Given the description of an element on the screen output the (x, y) to click on. 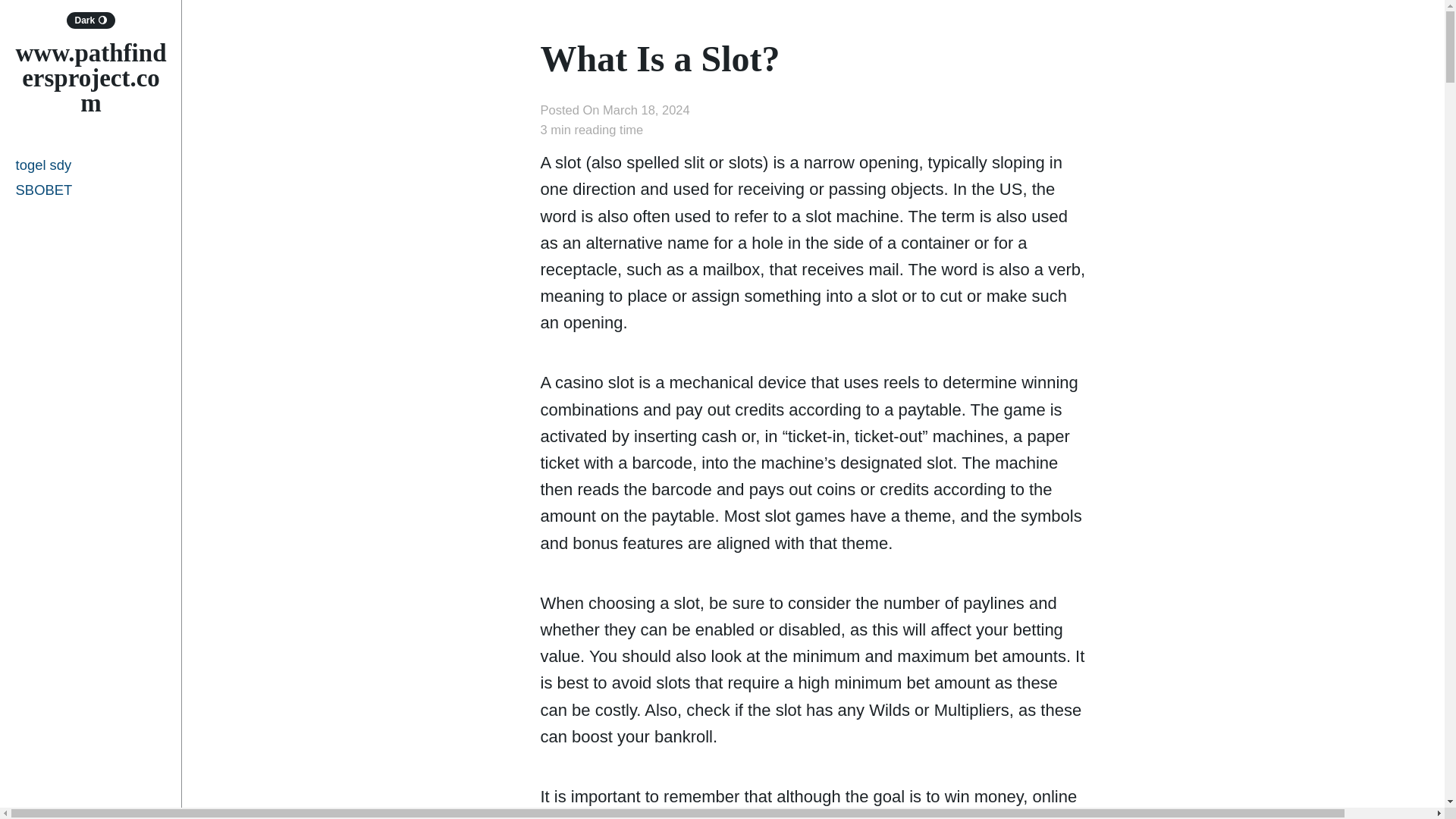
SBOBET (90, 189)
togel sdy (90, 164)
www.pathfindersproject.com (89, 78)
